Given the description of an element on the screen output the (x, y) to click on. 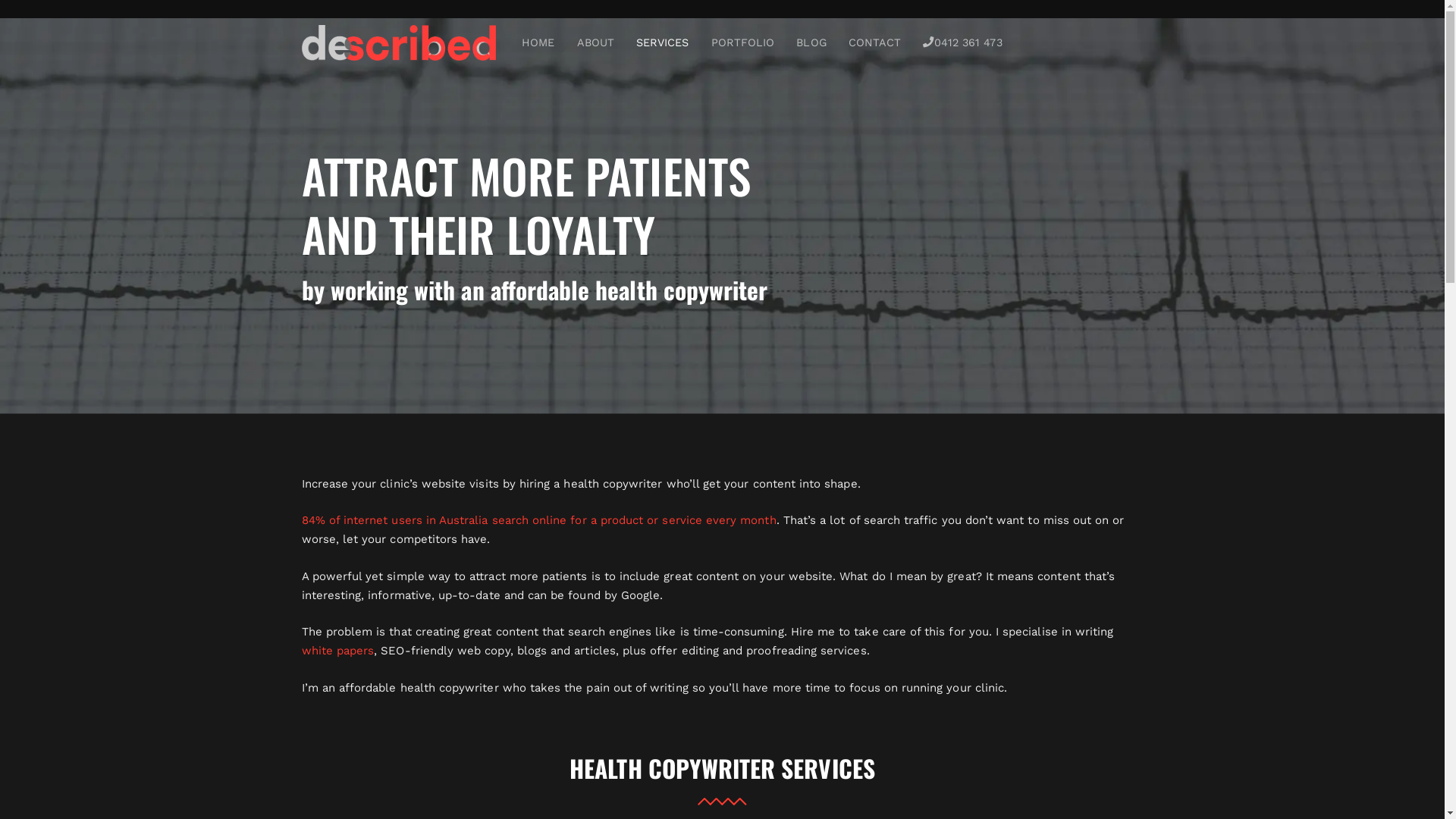
ABOUT Element type: text (595, 42)
SERVICES Element type: text (661, 42)
white papers Element type: text (337, 650)
PORTFOLIO Element type: text (742, 42)
CONTACT Element type: text (874, 42)
HOME Element type: text (538, 42)
BLOG Element type: text (811, 42)
0412 361 473 Element type: text (962, 42)
